Given the description of an element on the screen output the (x, y) to click on. 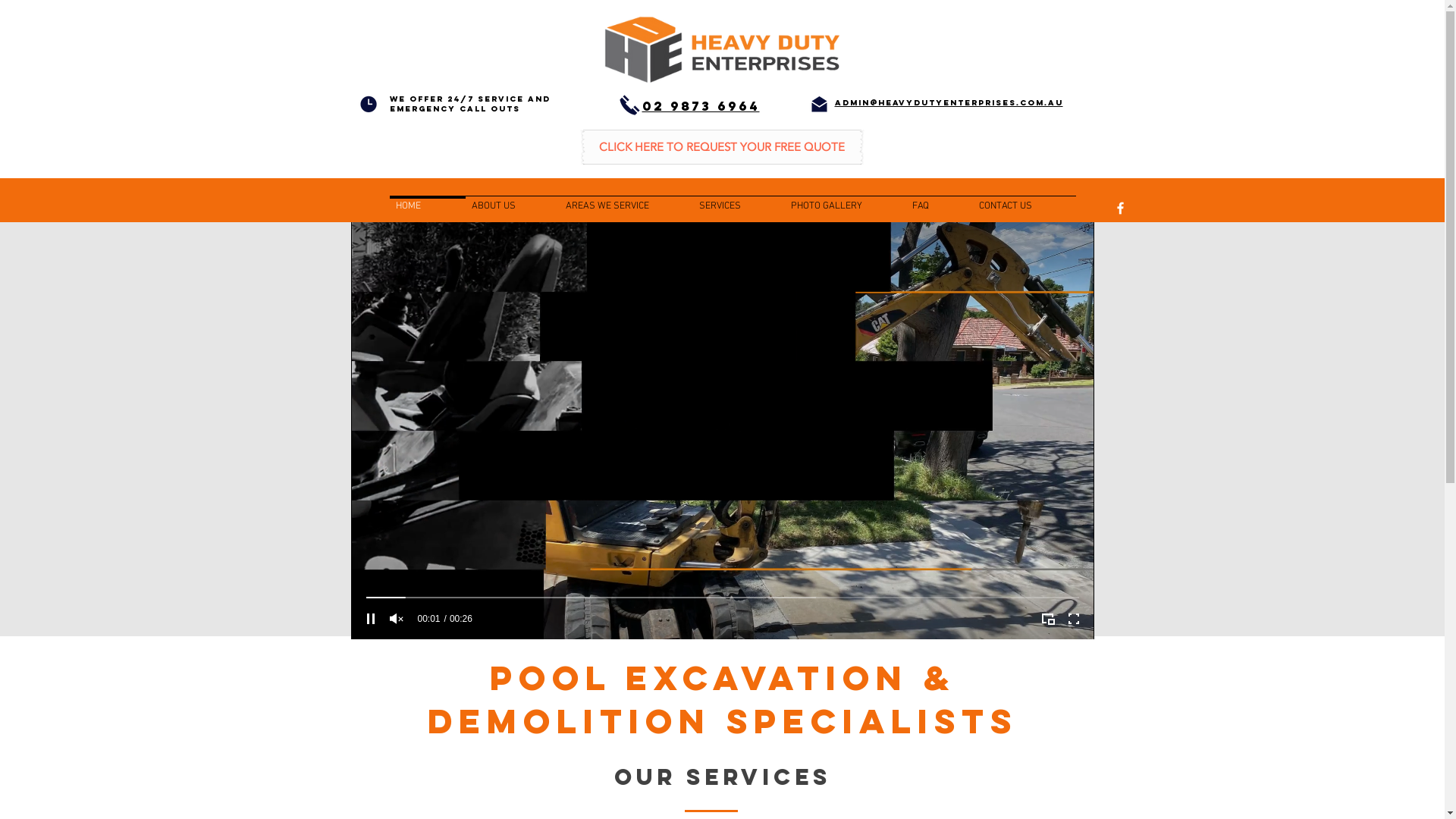
02 9873 6964 Element type: text (700, 105)
FAQ Element type: text (938, 199)
PHOTO GALLERY Element type: text (844, 199)
admin@HEAVYDUTYENTERPRISES.COM.AU Element type: text (948, 102)
CONTACT US Element type: text (1023, 199)
AREAS WE SERVICE Element type: text (626, 199)
TWIPLA (Visitor Analytics) Element type: hover (1216, 364)
ABOUT US Element type: text (512, 199)
SERVICES Element type: text (738, 199)
CLICK HERE TO REQUEST YOUR FREE QUOTE Element type: text (721, 146)
HOME Element type: text (427, 199)
